Given the description of an element on the screen output the (x, y) to click on. 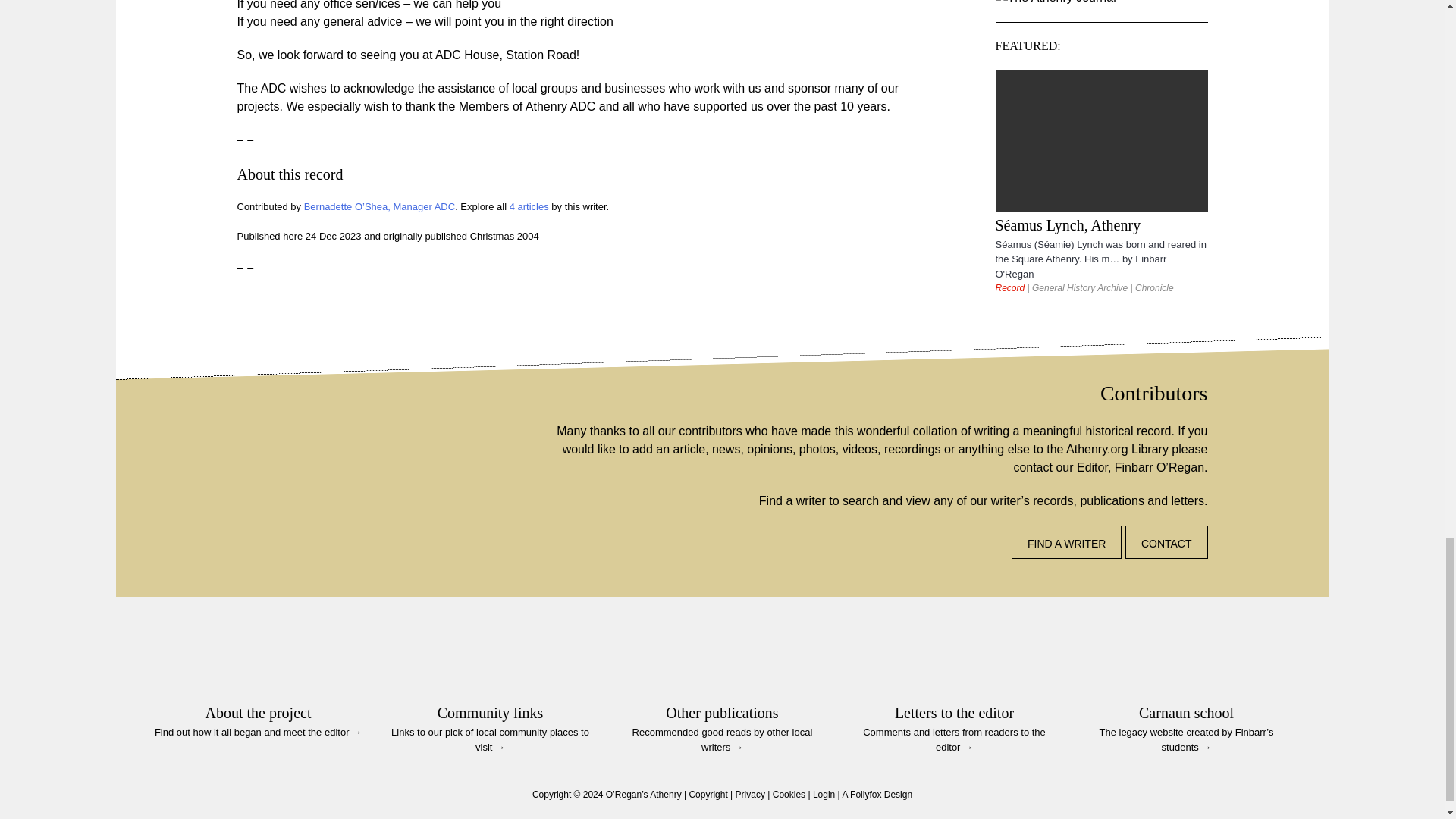
4 articles (528, 206)
FIND A WRITER (1066, 541)
Cookies (789, 794)
Copyright (707, 794)
Privacy (750, 794)
A Follyfox Design (876, 794)
Login (823, 794)
CONTACT (1166, 541)
